Given the description of an element on the screen output the (x, y) to click on. 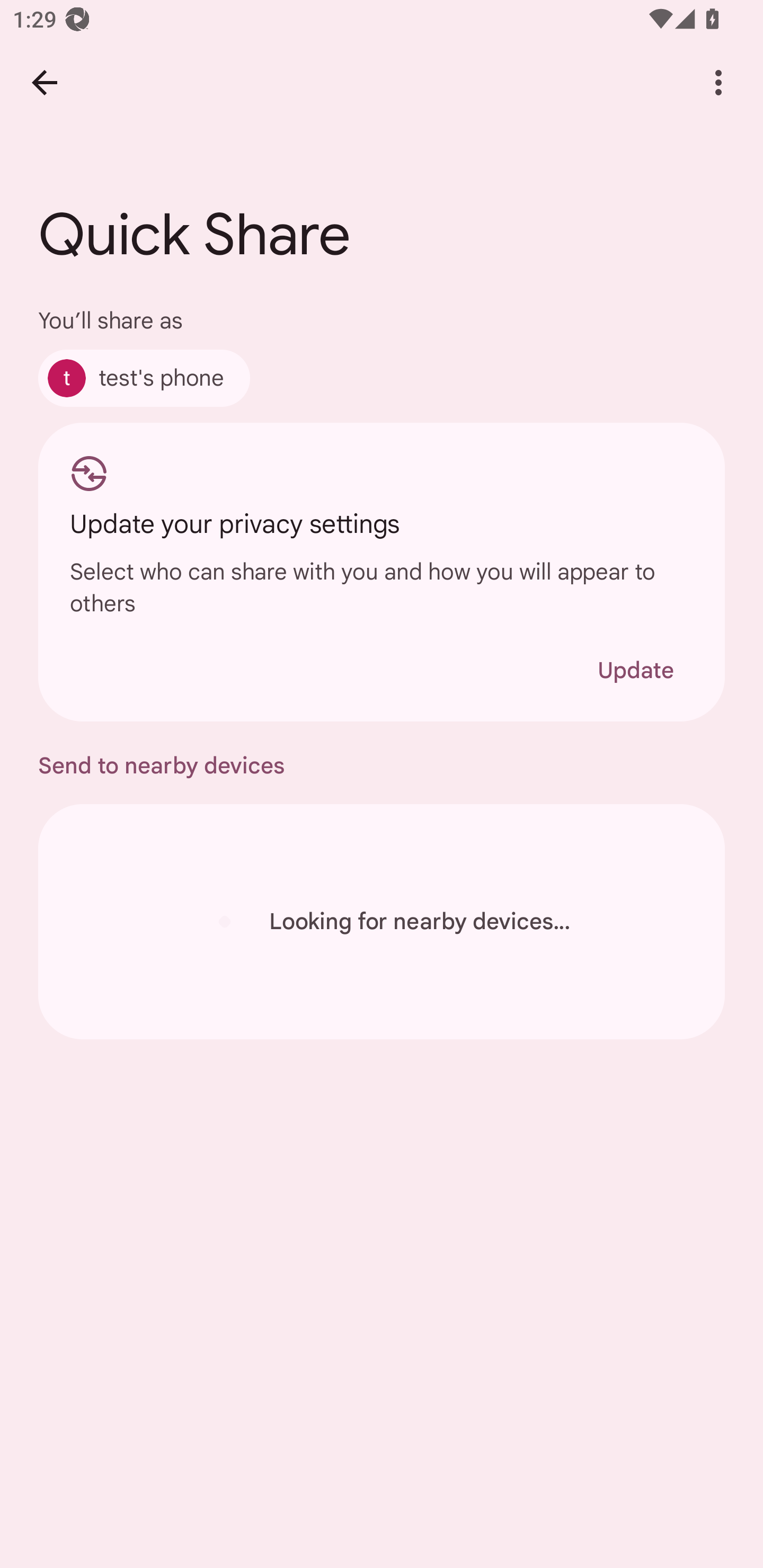
Back (44, 81)
More (718, 81)
test's phone (144, 378)
Update (635, 669)
